Given the description of an element on the screen output the (x, y) to click on. 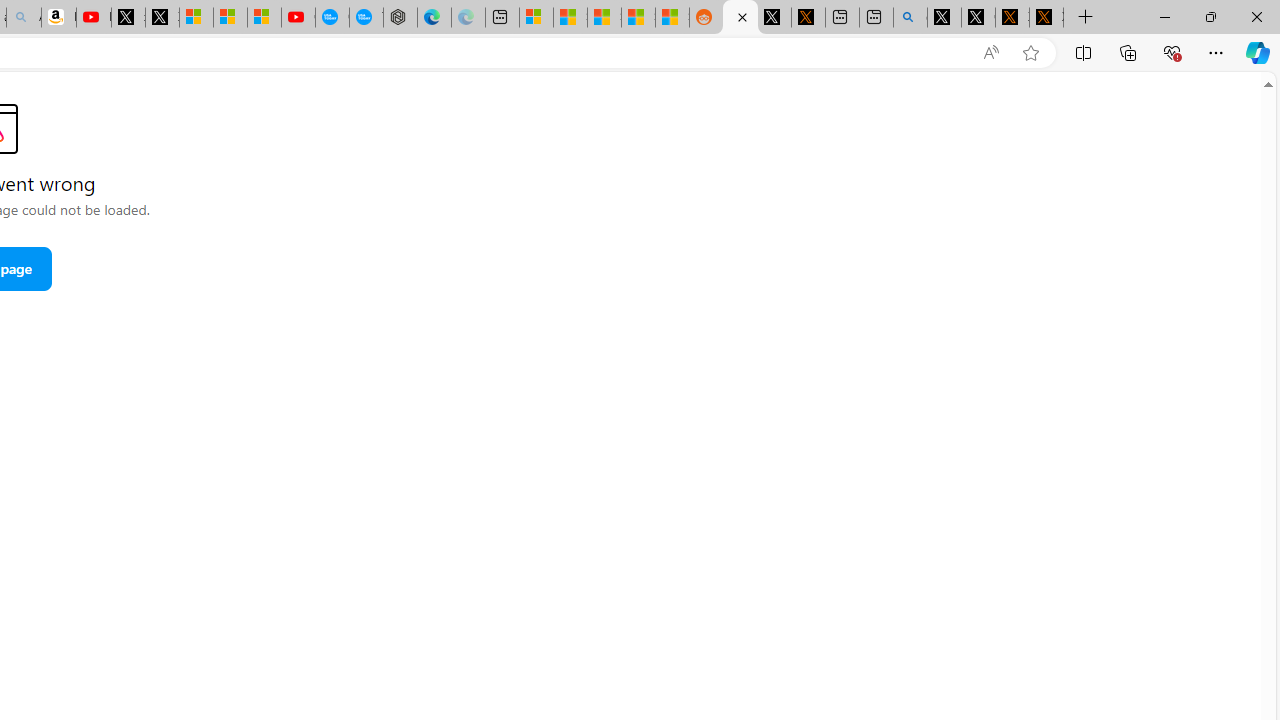
Day 1: Arriving in Yemen (surreal to be here) - YouTube (93, 17)
help.x.com | 524: A timeout occurred (808, 17)
GitHub (@github) / X (978, 17)
Shanghai, China Weather trends | Microsoft Weather (671, 17)
The most popular Google 'how to' searches (365, 17)
Nordace - Nordace has arrived Hong Kong (400, 17)
